Given the description of an element on the screen output the (x, y) to click on. 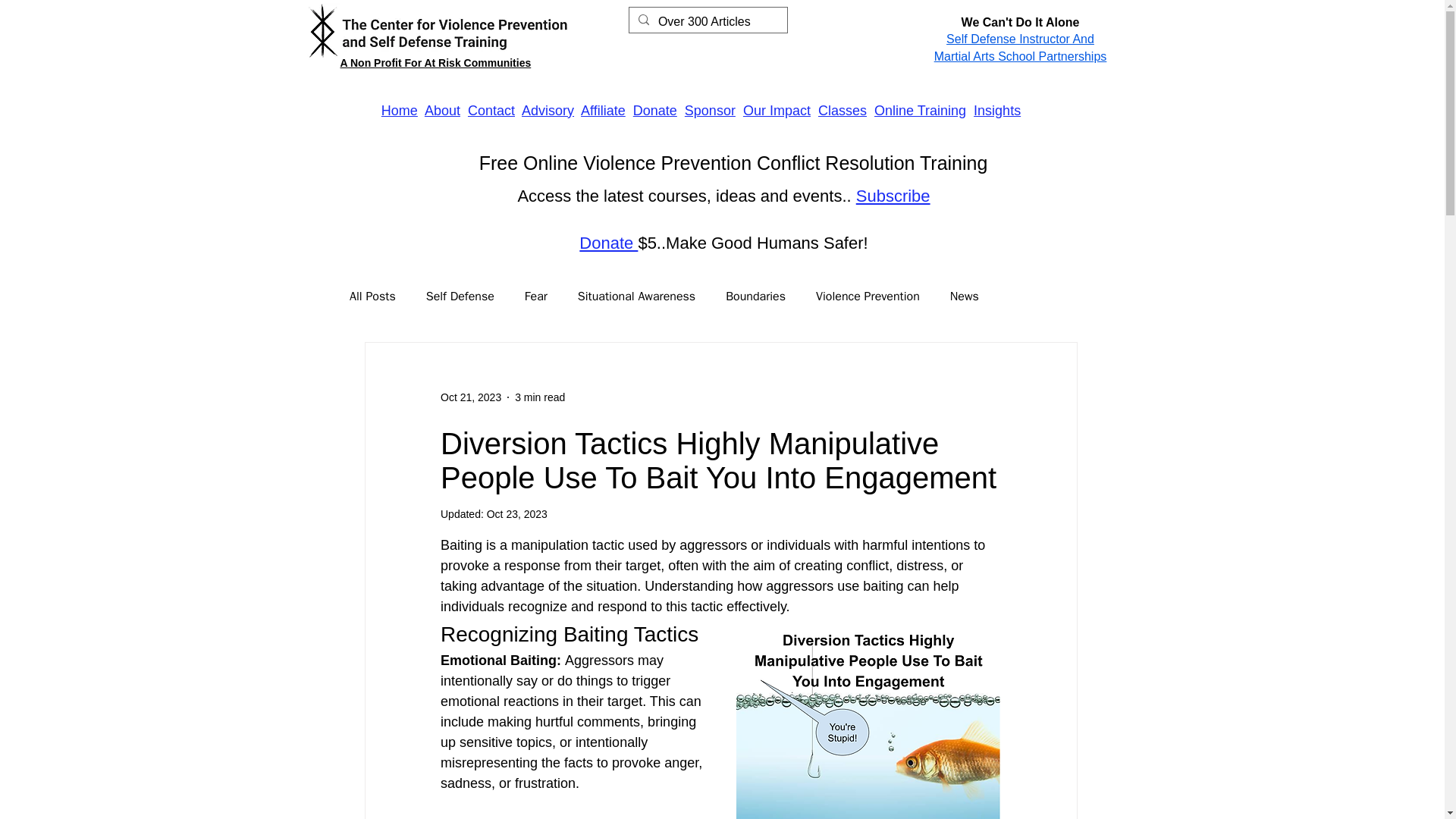
Oct 21, 2023 (470, 397)
Online Training (920, 110)
Oct 23, 2023 (516, 513)
Contact (491, 110)
Advisory (547, 110)
About (442, 110)
Situational Awareness (636, 296)
Our Impact (776, 110)
Subscribe (893, 195)
